Given the description of an element on the screen output the (x, y) to click on. 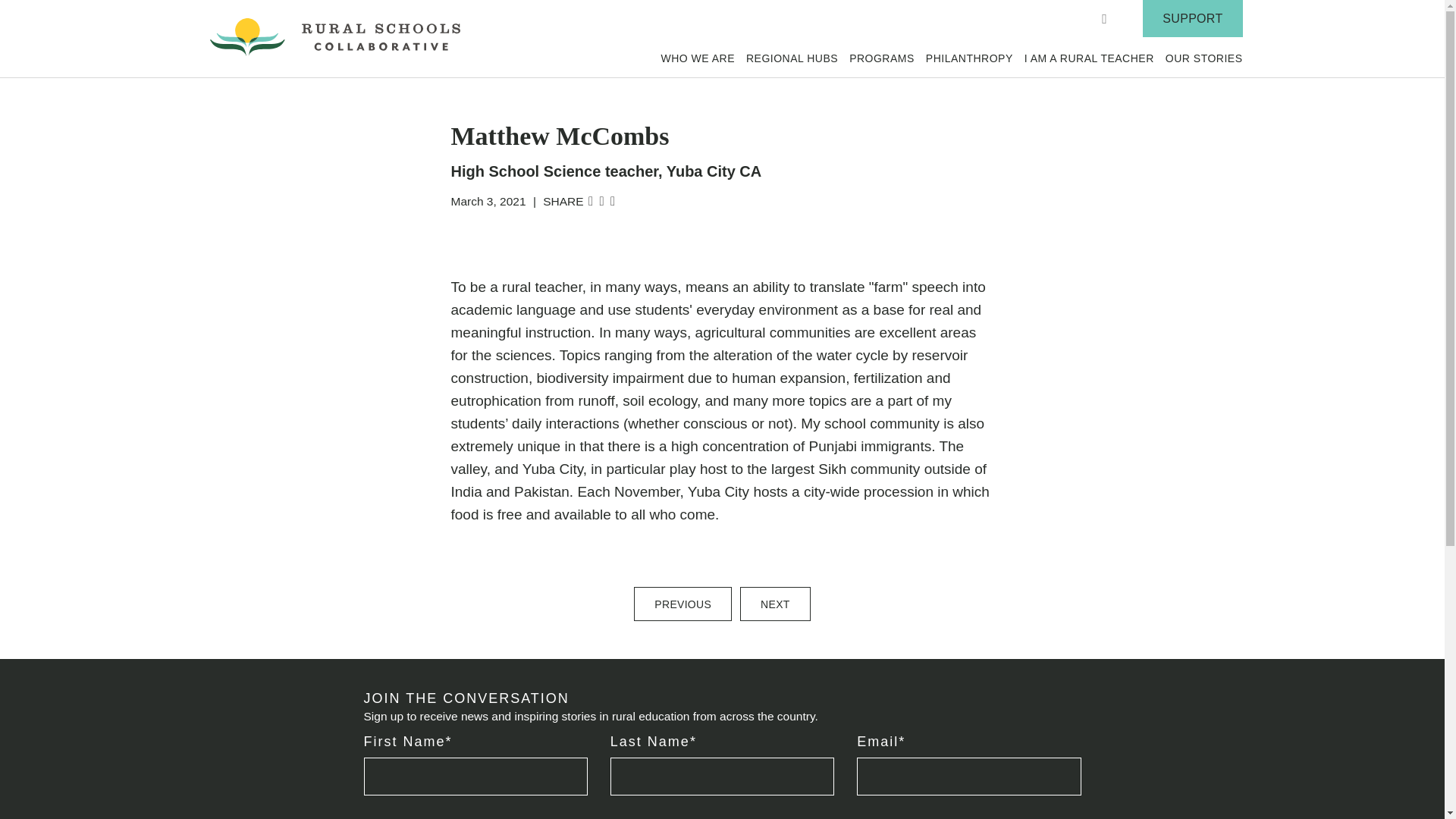
I AM A RURAL TEACHER (1089, 58)
SUPPORT (1191, 18)
PROGRAMS (881, 58)
NEXT (774, 603)
WHO WE ARE (698, 58)
PREVIOUS (682, 603)
PHILANTHROPY (969, 58)
OUR STORIES (1204, 58)
REGIONAL HUBS (791, 58)
